Given the description of an element on the screen output the (x, y) to click on. 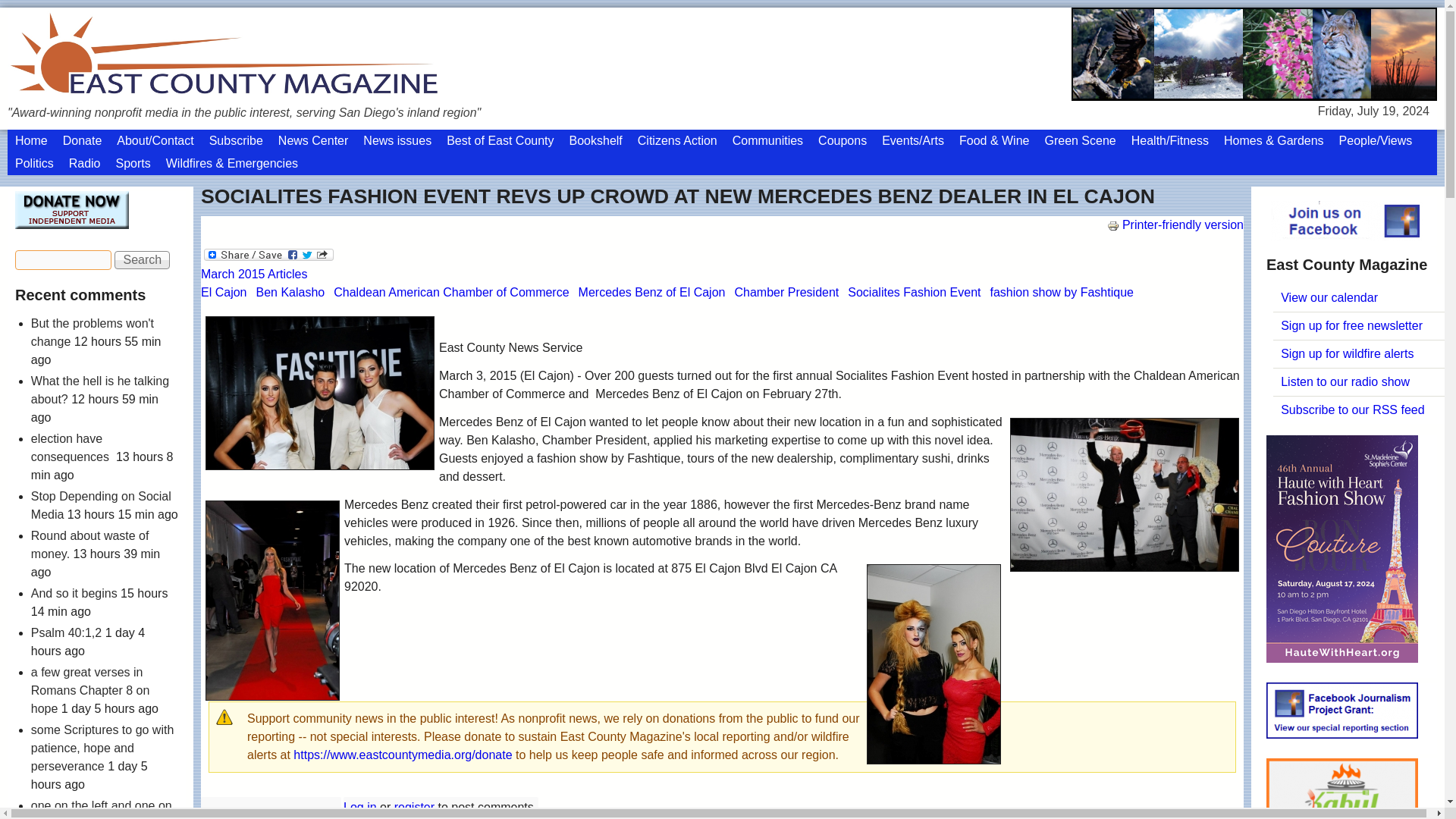
Home (31, 140)
Best of East County (499, 140)
News issues (397, 140)
News Center (312, 140)
Search (142, 259)
Subscribe (236, 140)
Donate (82, 140)
